Given the description of an element on the screen output the (x, y) to click on. 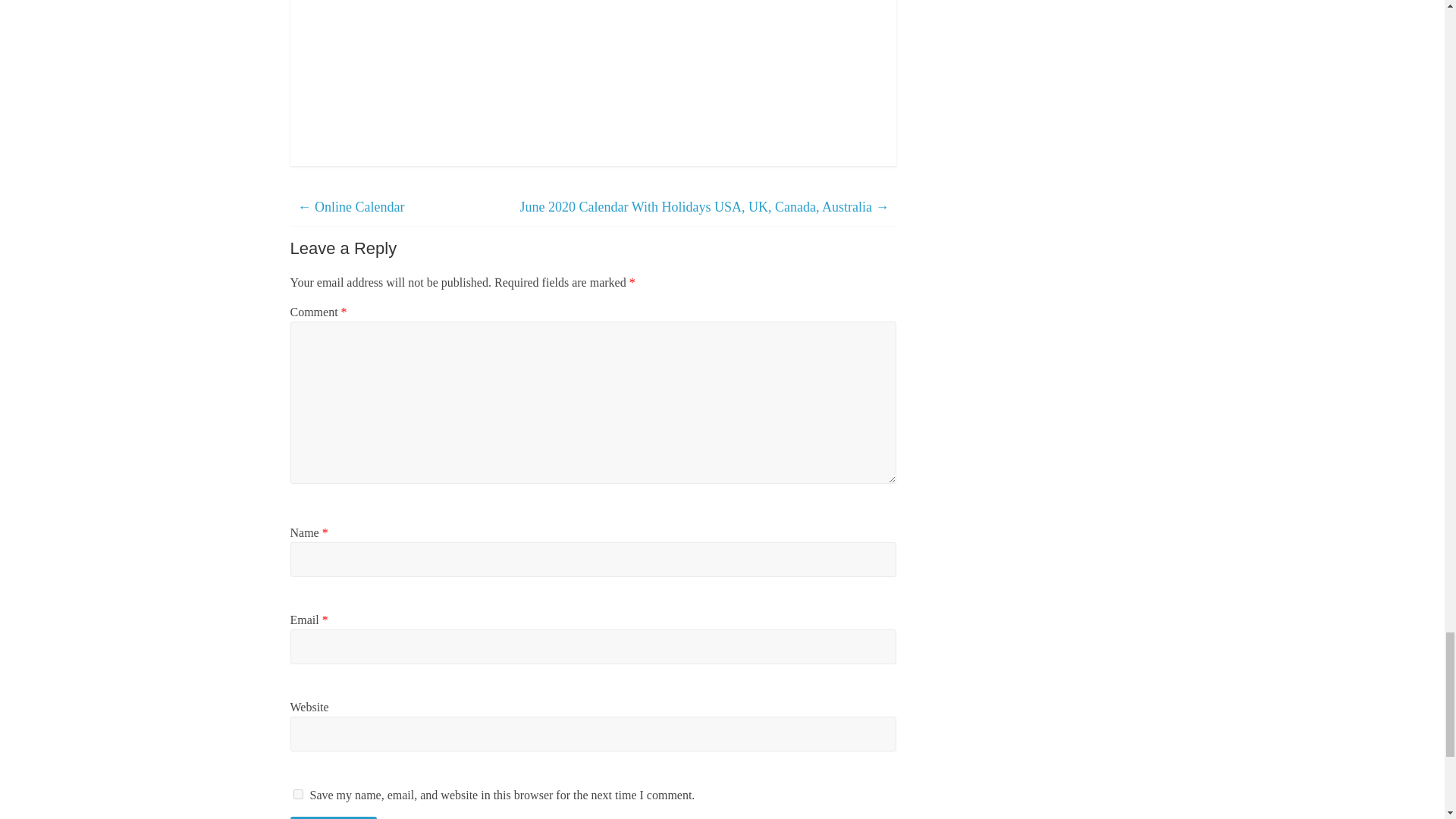
Post Comment (333, 817)
yes (297, 794)
